Given the description of an element on the screen output the (x, y) to click on. 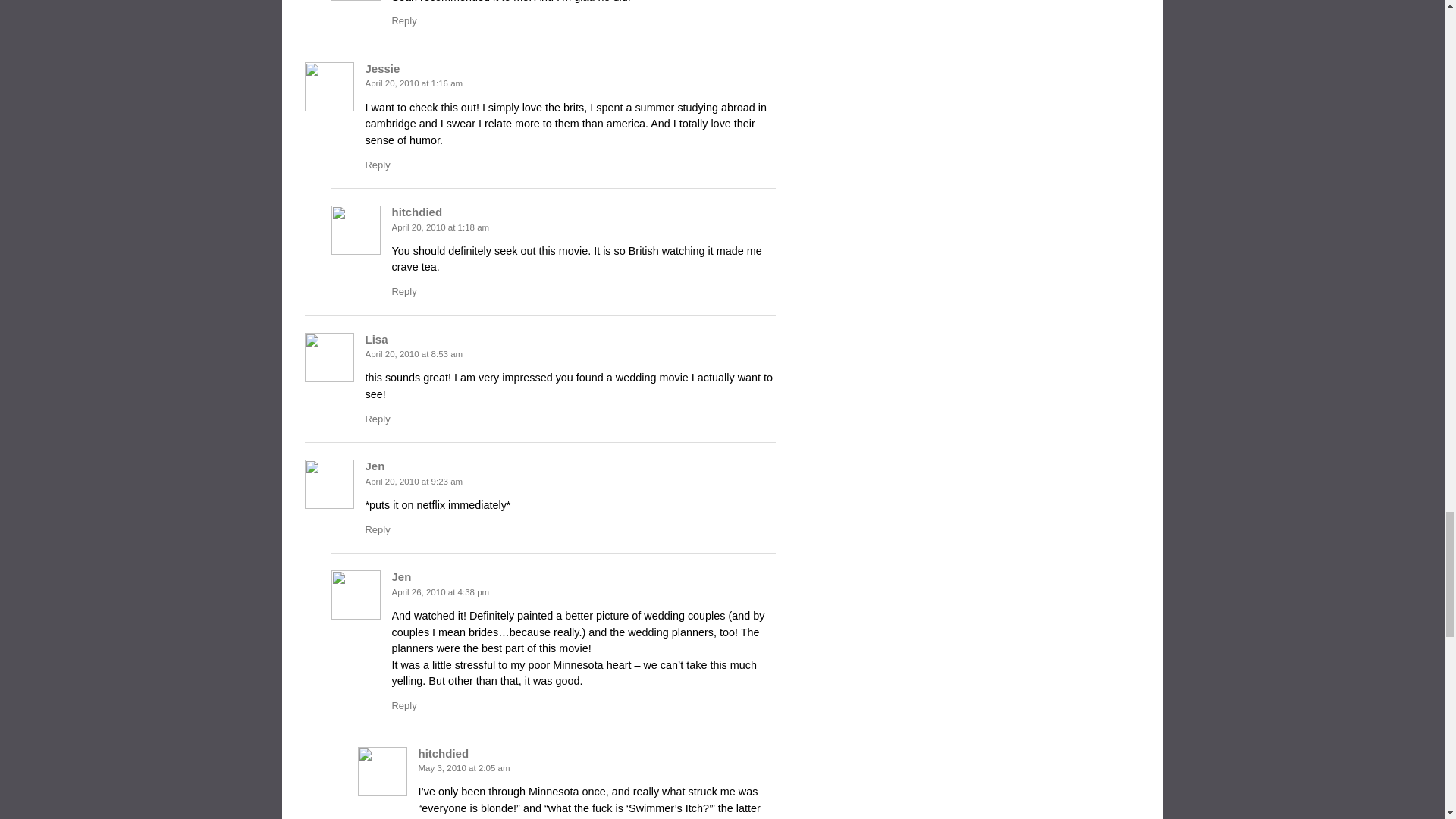
Jen (375, 465)
Reply (403, 20)
April 20, 2010 at 1:16 am (414, 82)
April 20, 2010 at 9:23 am (414, 481)
Reply (403, 291)
April 26, 2010 at 4:38 pm (440, 592)
April 20, 2010 at 1:18 am (440, 226)
April 20, 2010 at 8:53 am (414, 353)
Jessie (382, 68)
Reply (377, 529)
